Given the description of an element on the screen output the (x, y) to click on. 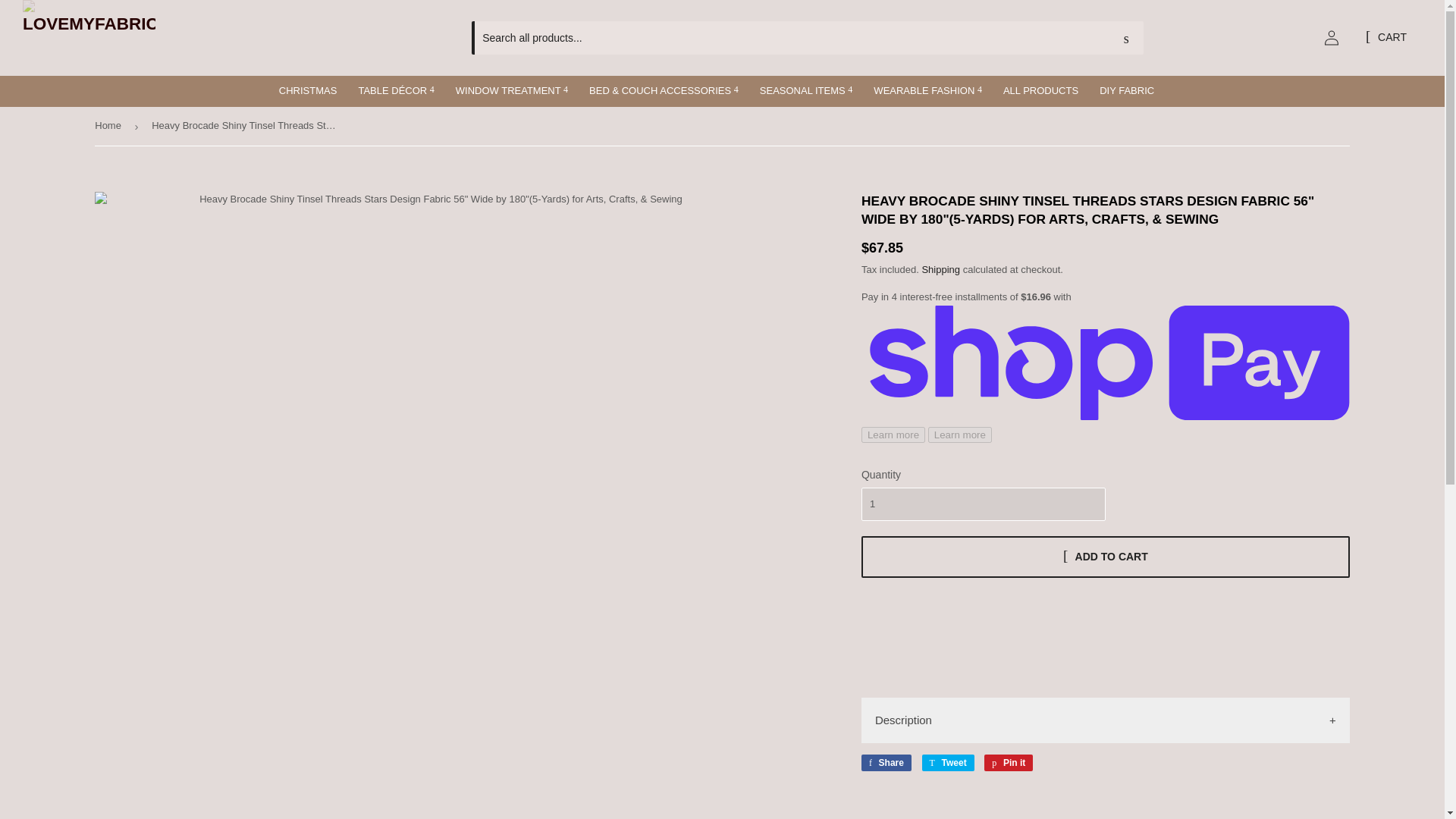
Share on Facebook (886, 762)
1 (983, 503)
Tweet on Twitter (947, 762)
Search (1125, 38)
CART (1386, 37)
Pin on Pinterest (1008, 762)
